Given the description of an element on the screen output the (x, y) to click on. 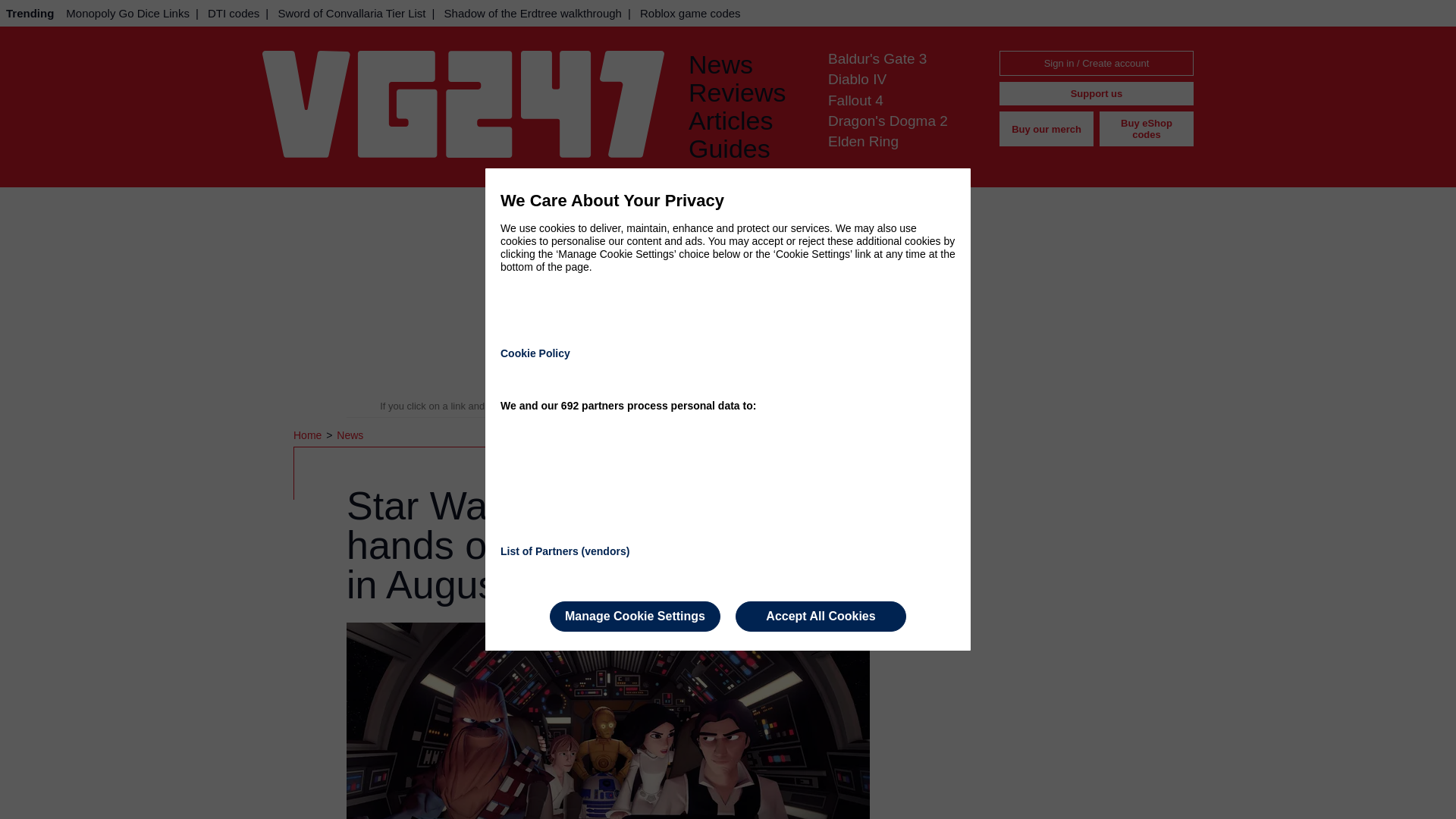
News (349, 435)
Buy eShop codes (1146, 128)
Shadow of the Erdtree walkthrough (532, 13)
Shadow of the Erdtree walkthrough (532, 13)
Elden Ring (863, 141)
Diablo IV (857, 78)
Read our editorial policy (781, 405)
Monopoly Go Dice Links (127, 13)
DTI codes (233, 13)
Buy our merch (1045, 128)
